Given the description of an element on the screen output the (x, y) to click on. 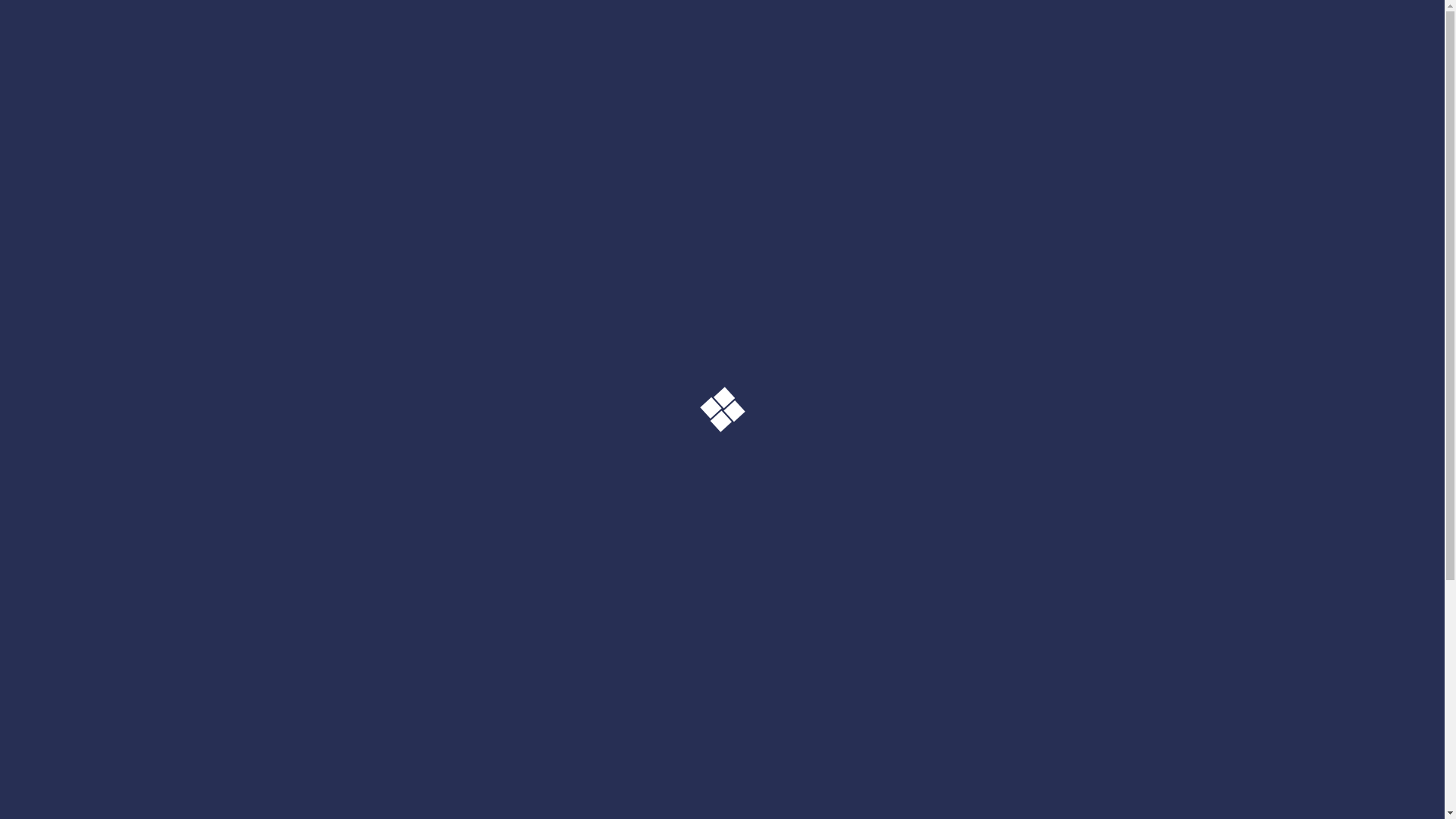
ABOUT US Element type: text (126, 41)
Location Element type: text (529, 803)
arura.edu@gmail.com Element type: text (1252, 40)
GALLERY Element type: text (440, 41)
17742829 Element type: text (1367, 40)
SIGN UP NOW Element type: text (1086, 643)
Admission Details Element type: text (781, 781)
HOME Element type: text (42, 41)
ADMISSION Element type: text (233, 41)
Faculty Element type: text (525, 781)
Criteria Element type: text (753, 803)
ACADEMIC Element type: text (342, 41)
